Given the description of an element on the screen output the (x, y) to click on. 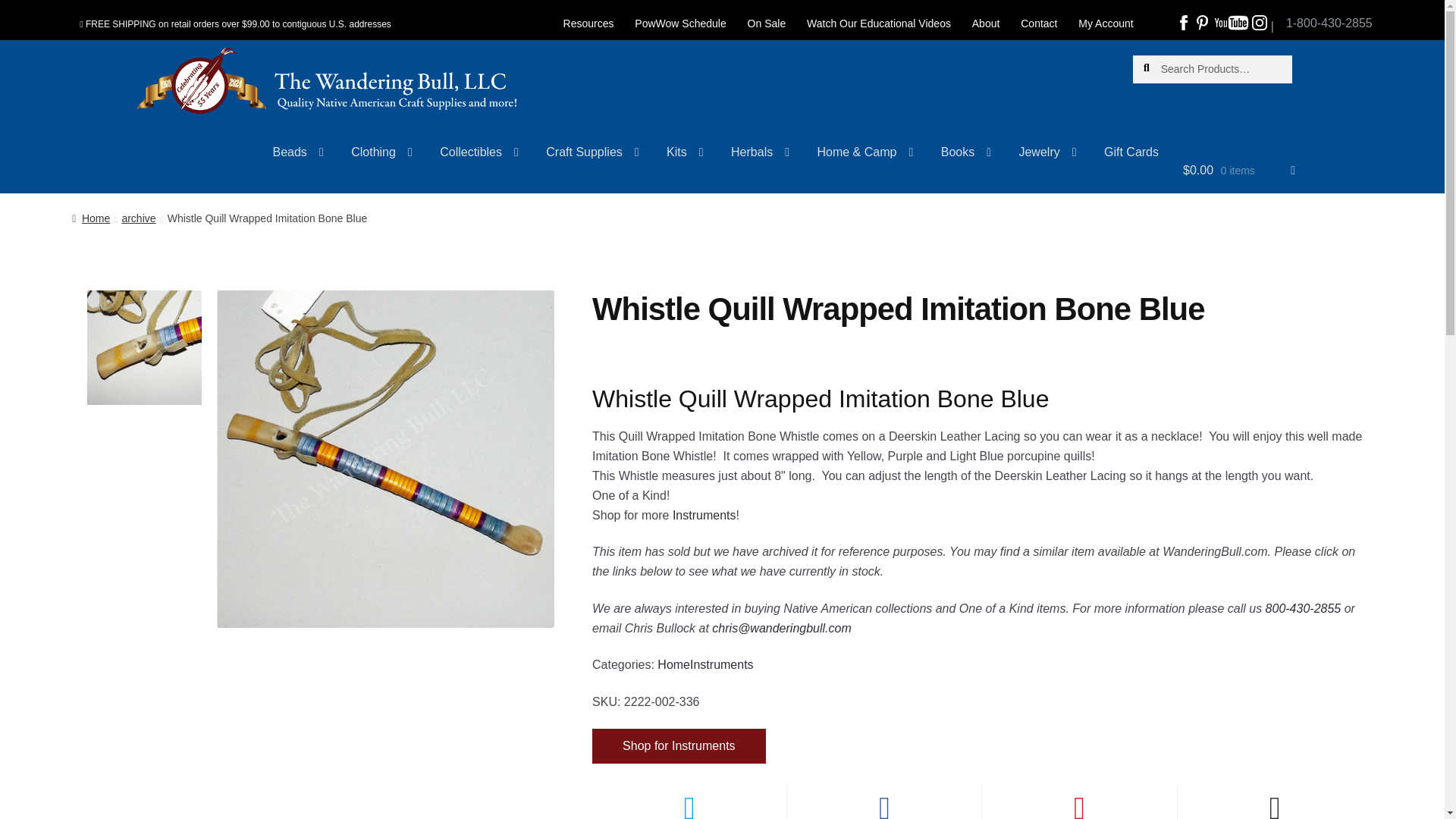
Beads (298, 158)
1-800-430-2855 (1329, 16)
PowWow Schedule (680, 23)
About (985, 23)
Resources (588, 23)
My Account (1104, 23)
On Sale (766, 23)
Watch Our Educational Videos (878, 23)
Search for: (1212, 69)
Contact (1038, 23)
View your shopping cart (1238, 176)
